Given the description of an element on the screen output the (x, y) to click on. 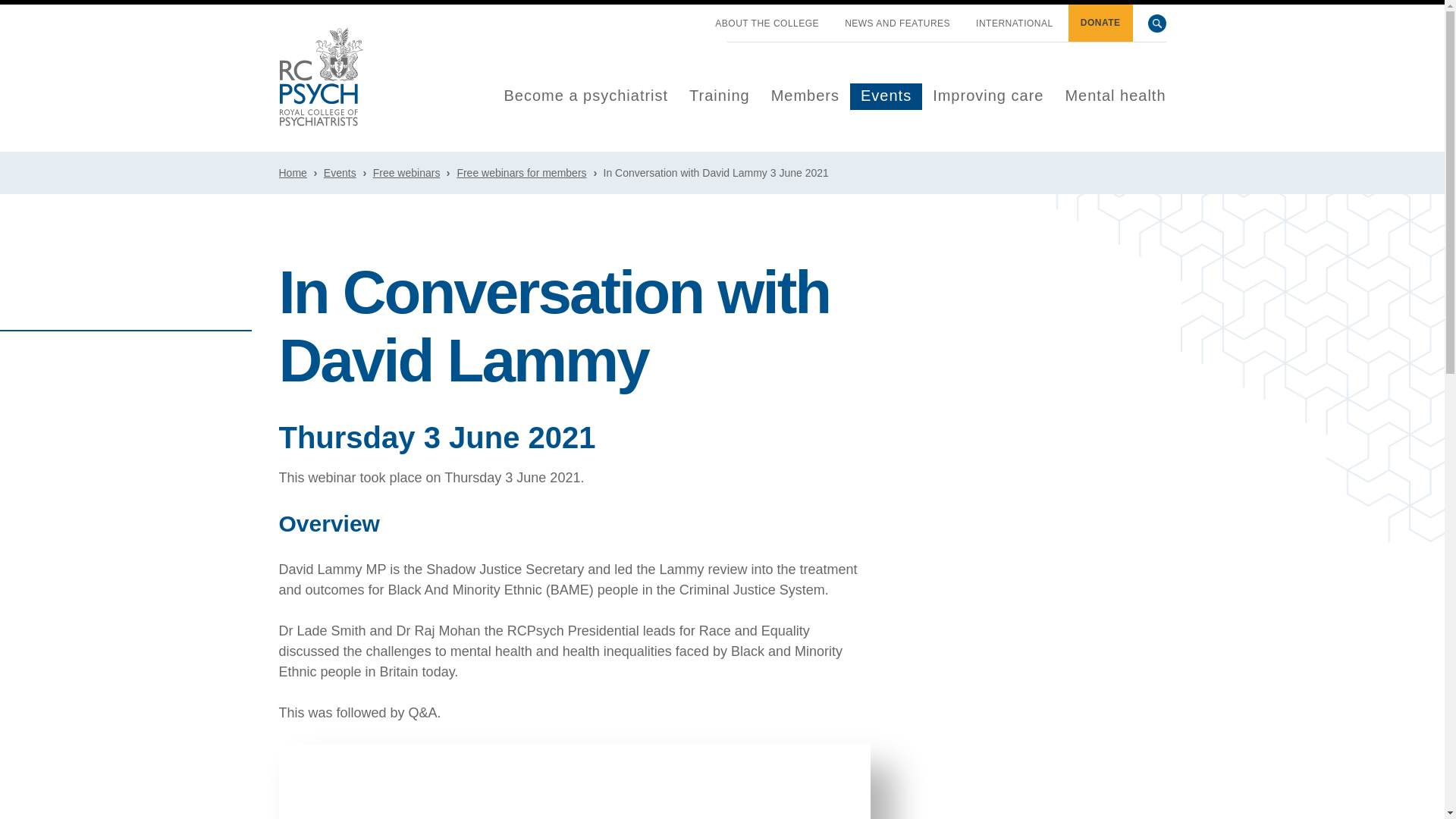
Search (1157, 23)
Become a psychiatrist (585, 96)
INTERNATIONAL (1014, 23)
NEWS AND FEATURES (897, 23)
DONATE (1100, 22)
SKIP NAVIGATION (689, 17)
ABOUT THE COLLEGE (766, 23)
